Given the description of an element on the screen output the (x, y) to click on. 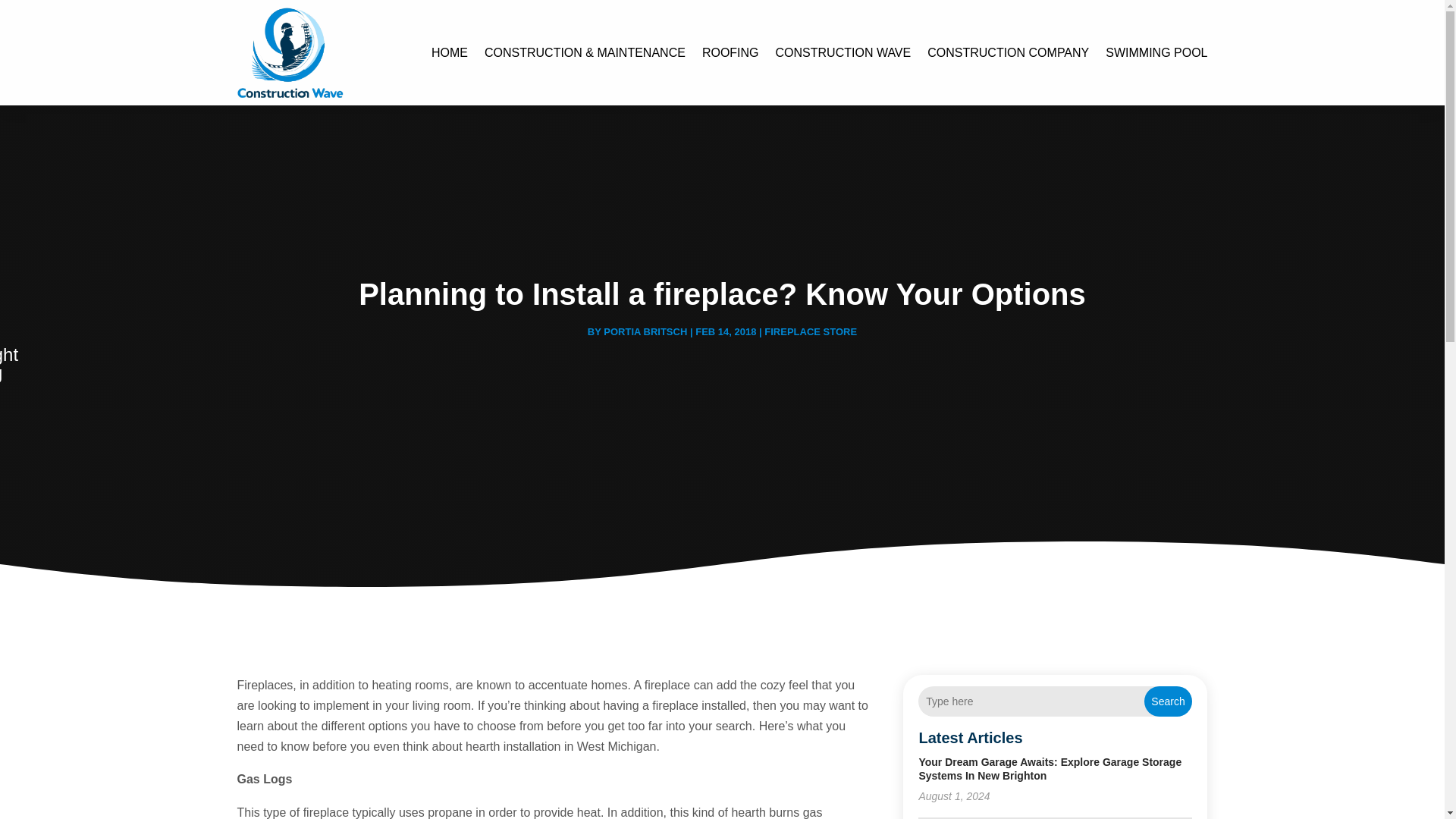
CONSTRUCTION WAVE (843, 52)
Posts by portia britsch (645, 331)
PORTIA BRITSCH (645, 331)
Search (1168, 701)
FIREPLACE STORE (810, 331)
SWIMMING POOL (1156, 52)
CONSTRUCTION COMPANY (1008, 52)
